Given the description of an element on the screen output the (x, y) to click on. 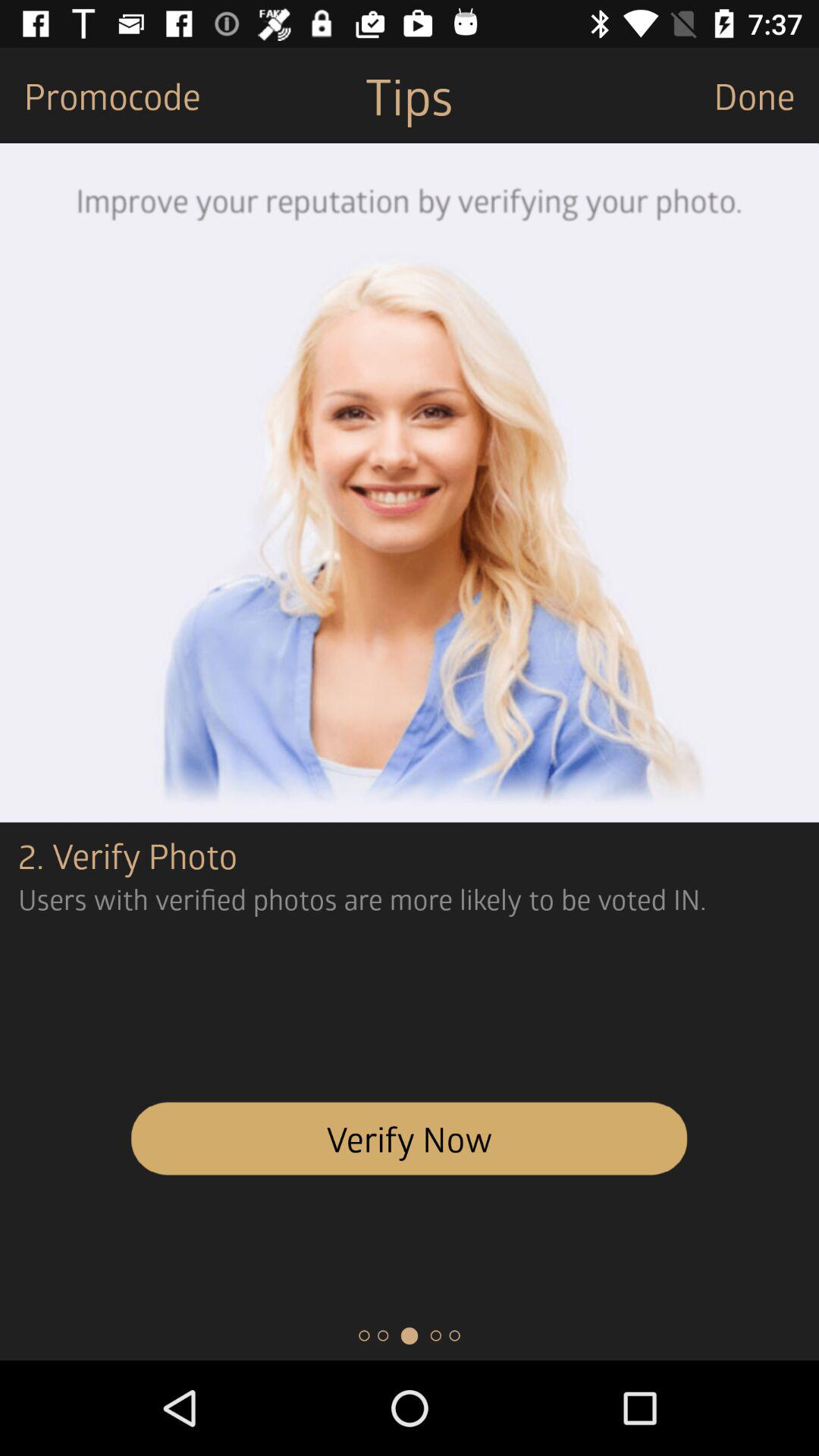
press icon to the left of the done icon (409, 95)
